Given the description of an element on the screen output the (x, y) to click on. 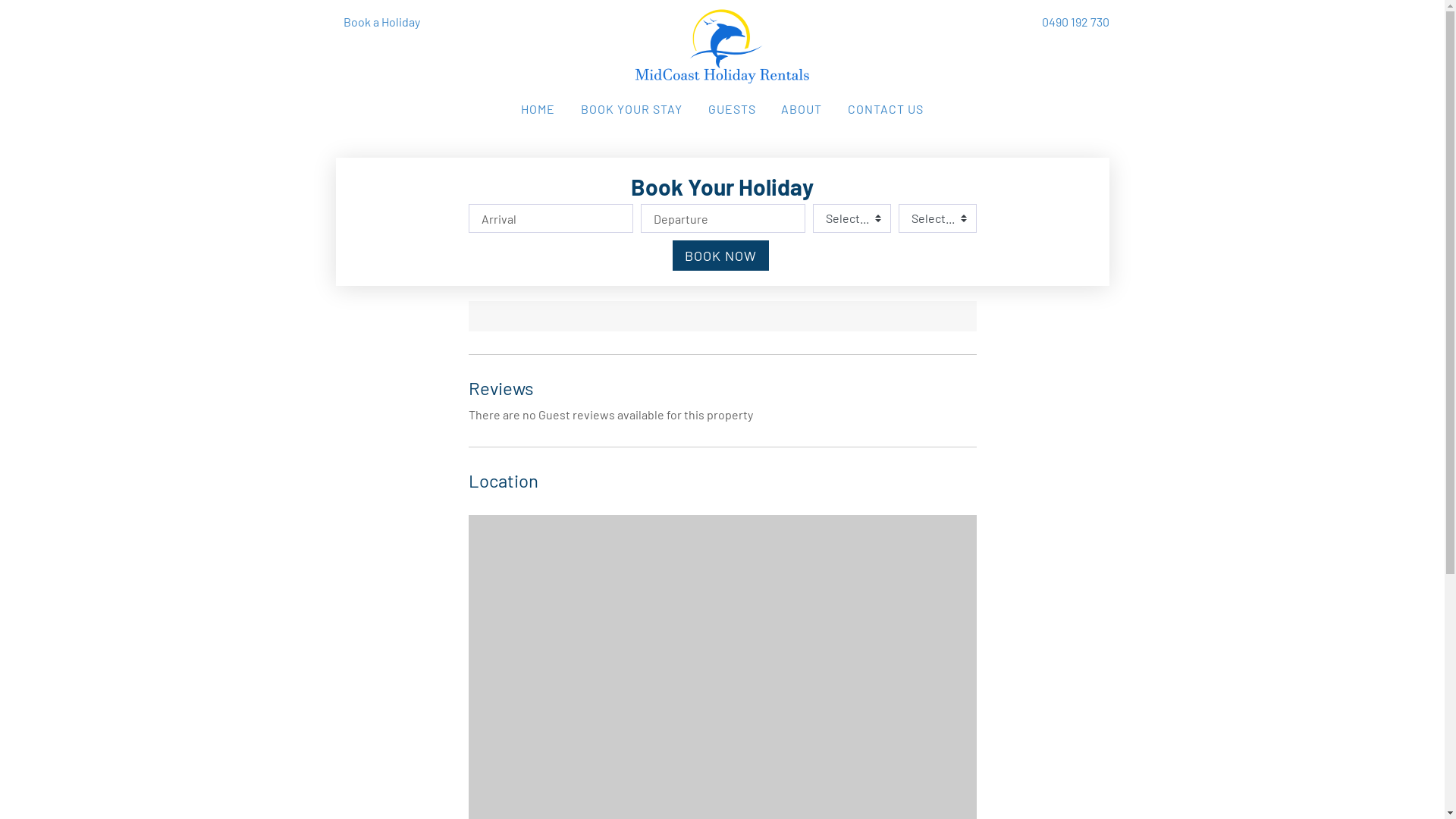
0490 192 730 Element type: text (1075, 21)
ABOUT Element type: text (801, 108)
BOOK YOUR STAY Element type: text (631, 108)
GUESTS Element type: text (731, 108)
HOME Element type: text (537, 108)
CONTACT US Element type: text (885, 108)
Book a Holiday Element type: text (380, 21)
BOOK NOW Element type: text (719, 255)
